Given the description of an element on the screen output the (x, y) to click on. 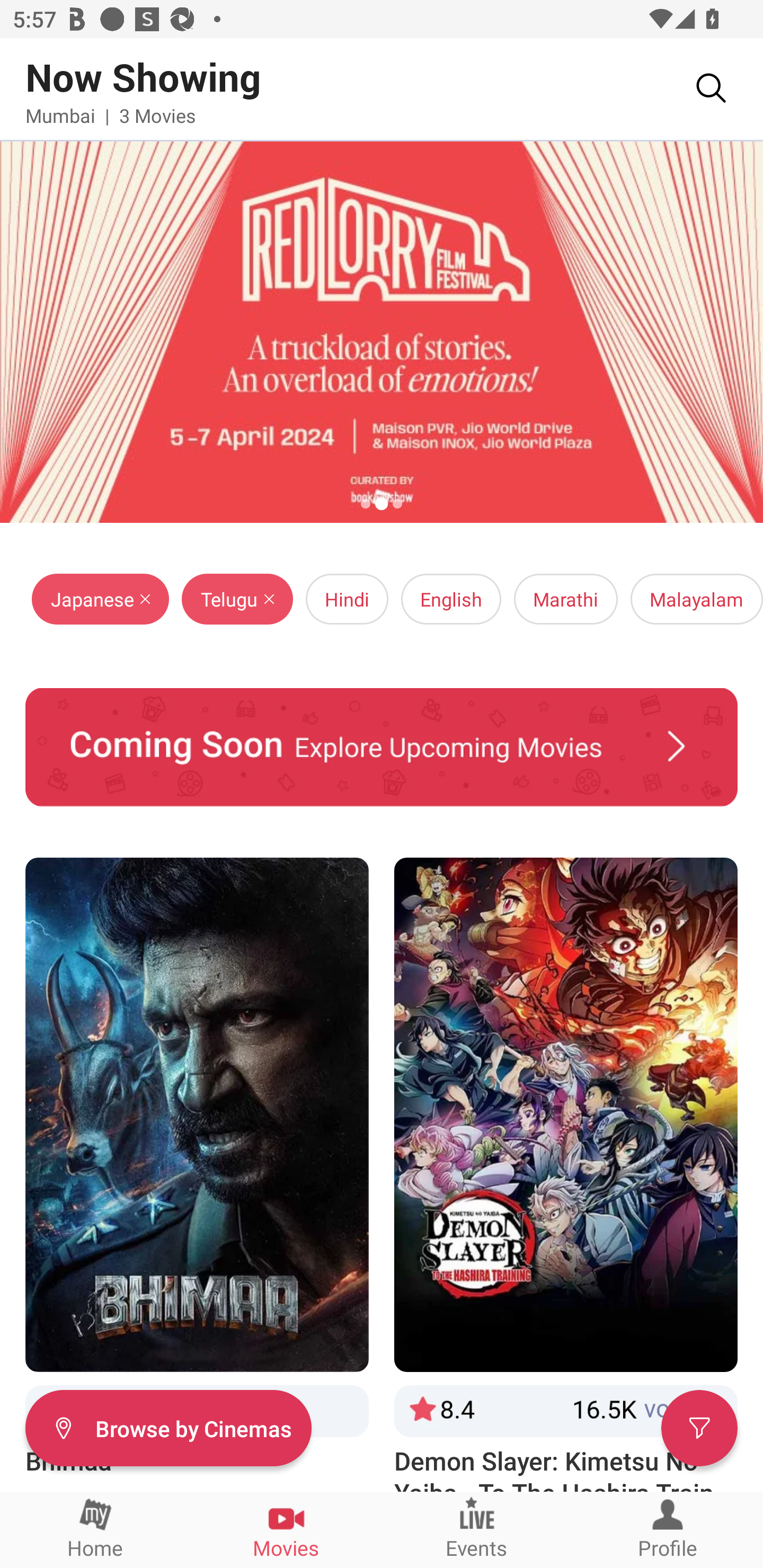
Mumbai  |  3 Movies (110, 114)
Japanese Close (100, 598)
Telugu Close (236, 598)
Hindi (346, 598)
English (451, 598)
Marathi (566, 598)
Malayalam (696, 598)
Bhimaa (196, 1174)
Filter Browse by Cinemas (168, 1427)
Filter (699, 1427)
Home (95, 1529)
Movies (285, 1529)
Events (476, 1529)
Profile (667, 1529)
